Given the description of an element on the screen output the (x, y) to click on. 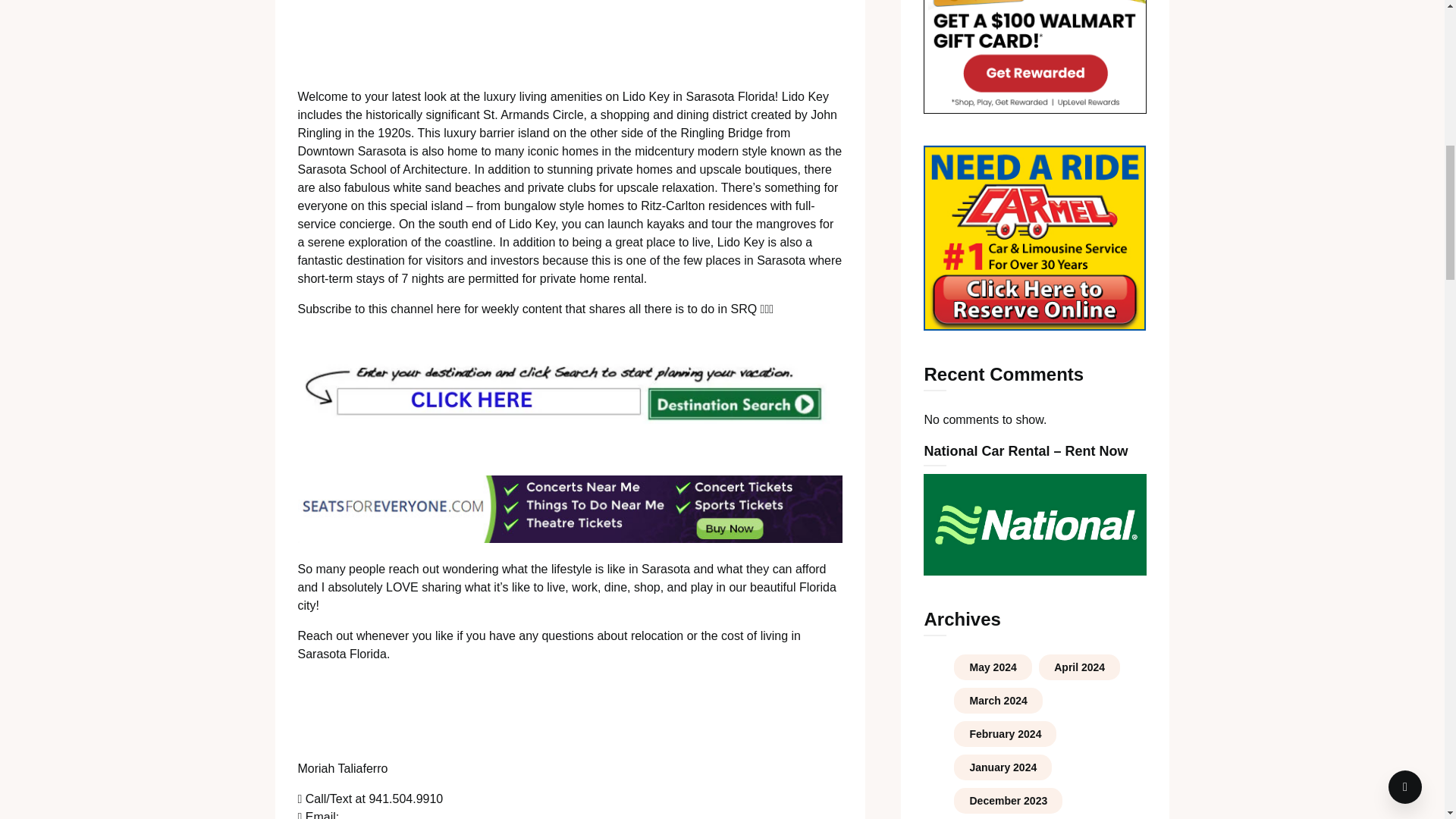
YouTube video player (570, 35)
